Given the description of an element on the screen output the (x, y) to click on. 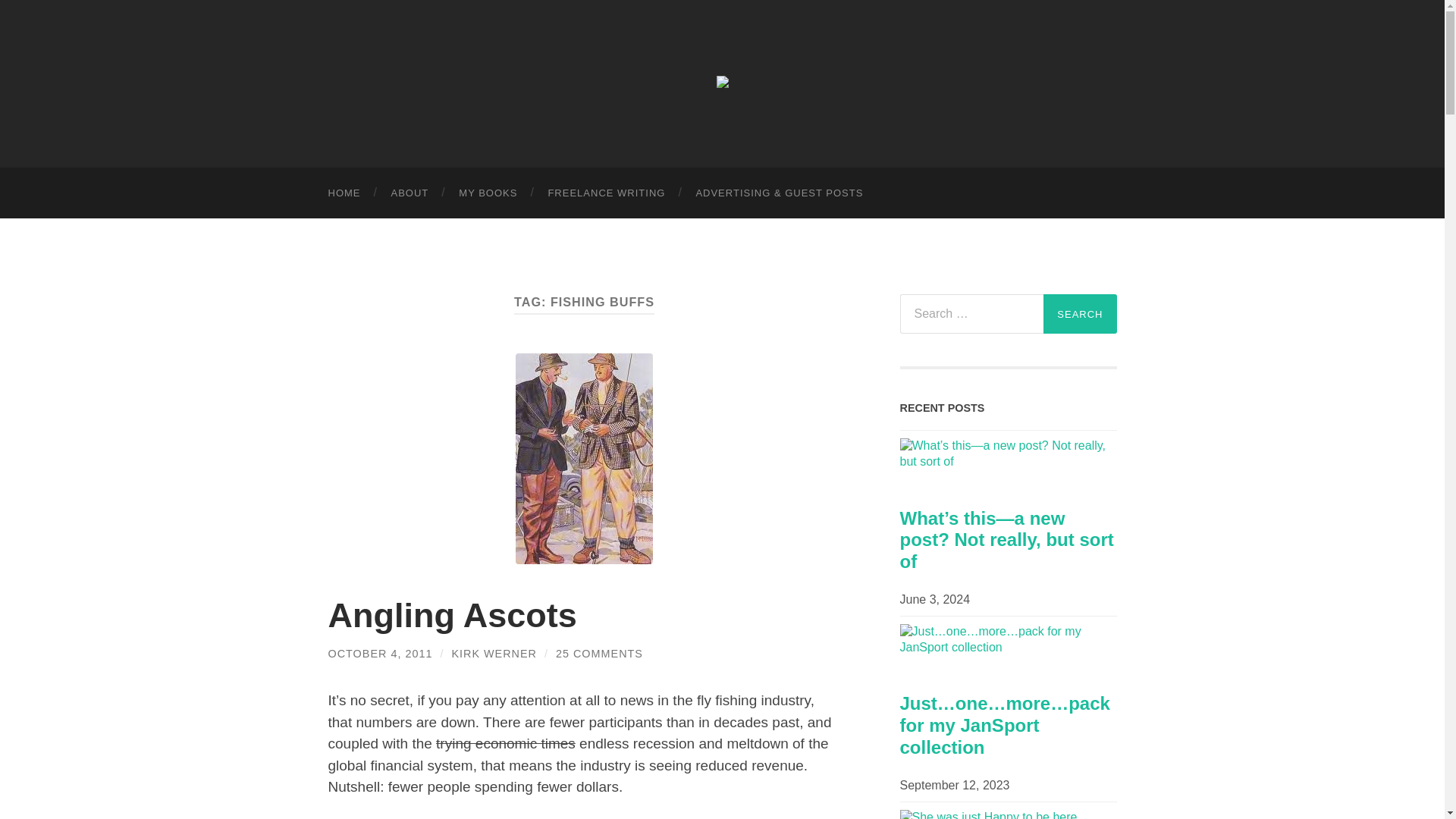
MY BOOKS (488, 192)
OCTOBER 4, 2011 (379, 653)
25 COMMENTS (599, 653)
Search (1079, 313)
Angling Ascots (451, 615)
ABOUT (409, 192)
KIRK WERNER (494, 653)
Search (1079, 313)
Posts by Kirk Werner (494, 653)
Unaccomplished Angler (722, 81)
Search (1079, 313)
FREELANCE WRITING (605, 192)
HOME (344, 192)
